Given the description of an element on the screen output the (x, y) to click on. 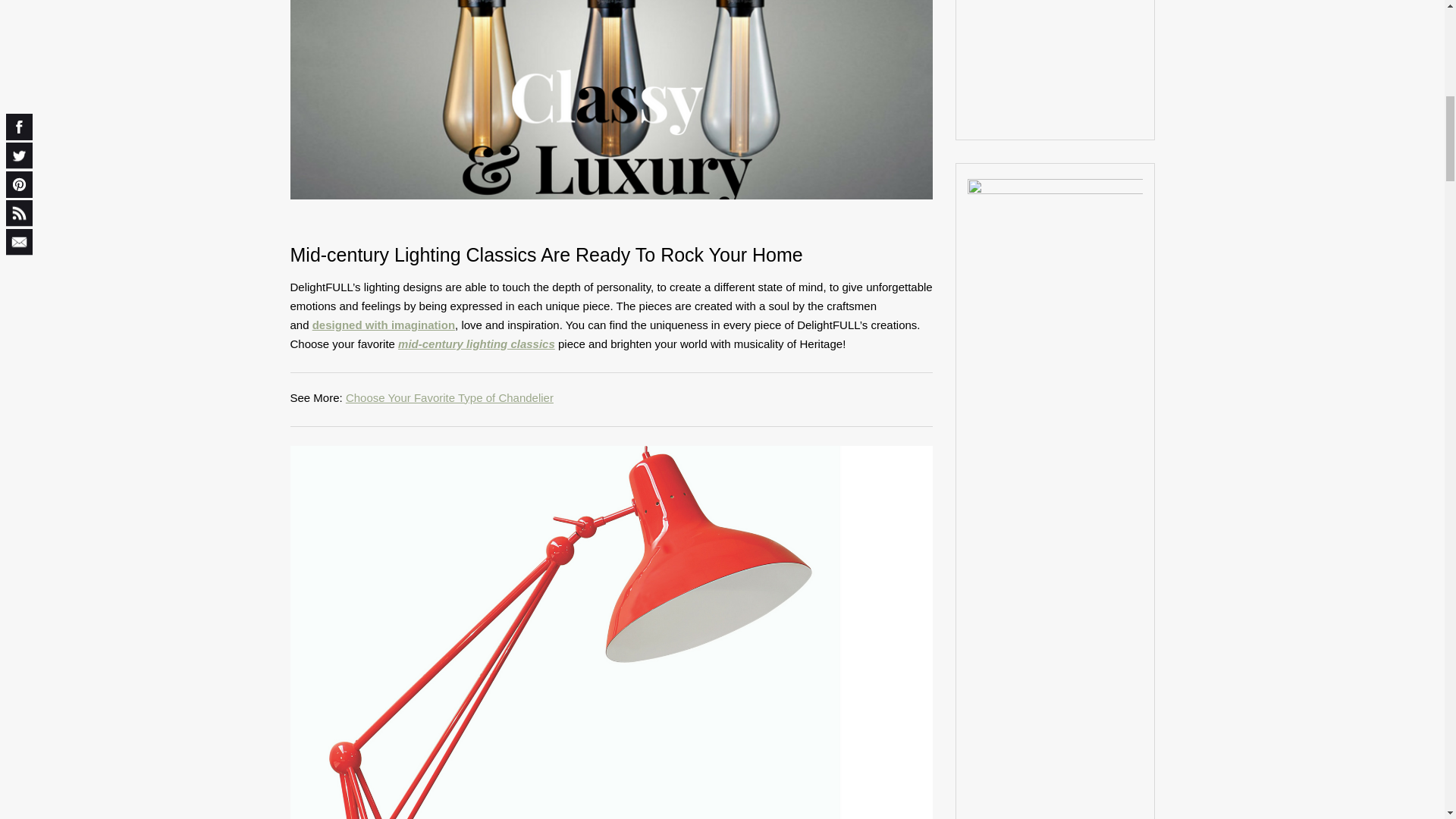
designed with imagination (383, 324)
Choose Your Favorite Type of Chandelier (449, 397)
mid-century lighting classics (475, 343)
